Given the description of an element on the screen output the (x, y) to click on. 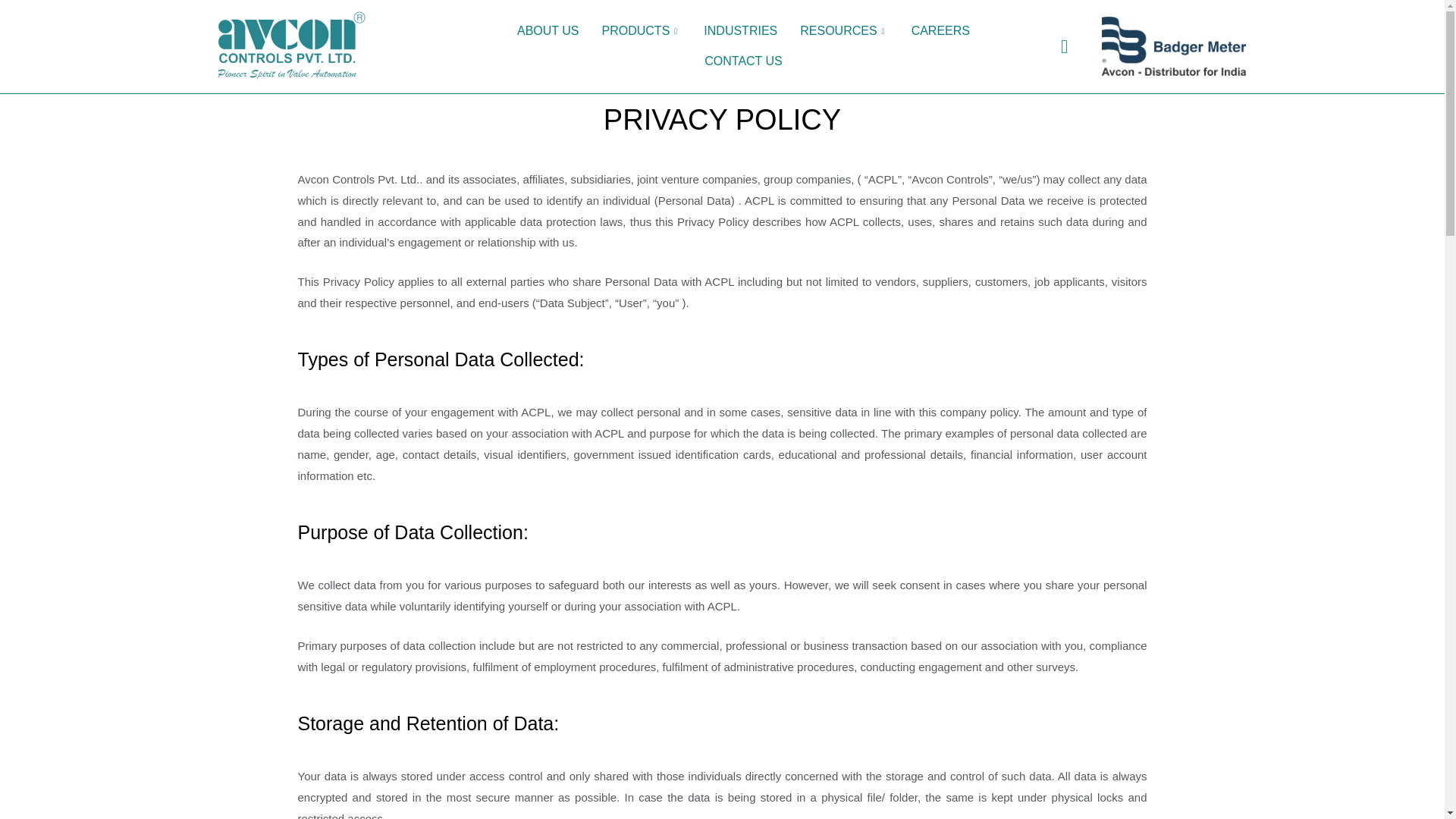
ABOUT US (548, 30)
CONTACT US (743, 60)
CAREERS (940, 30)
INDUSTRIES (741, 30)
RESOURCES (844, 30)
PRODUCTS (642, 30)
